Given the description of an element on the screen output the (x, y) to click on. 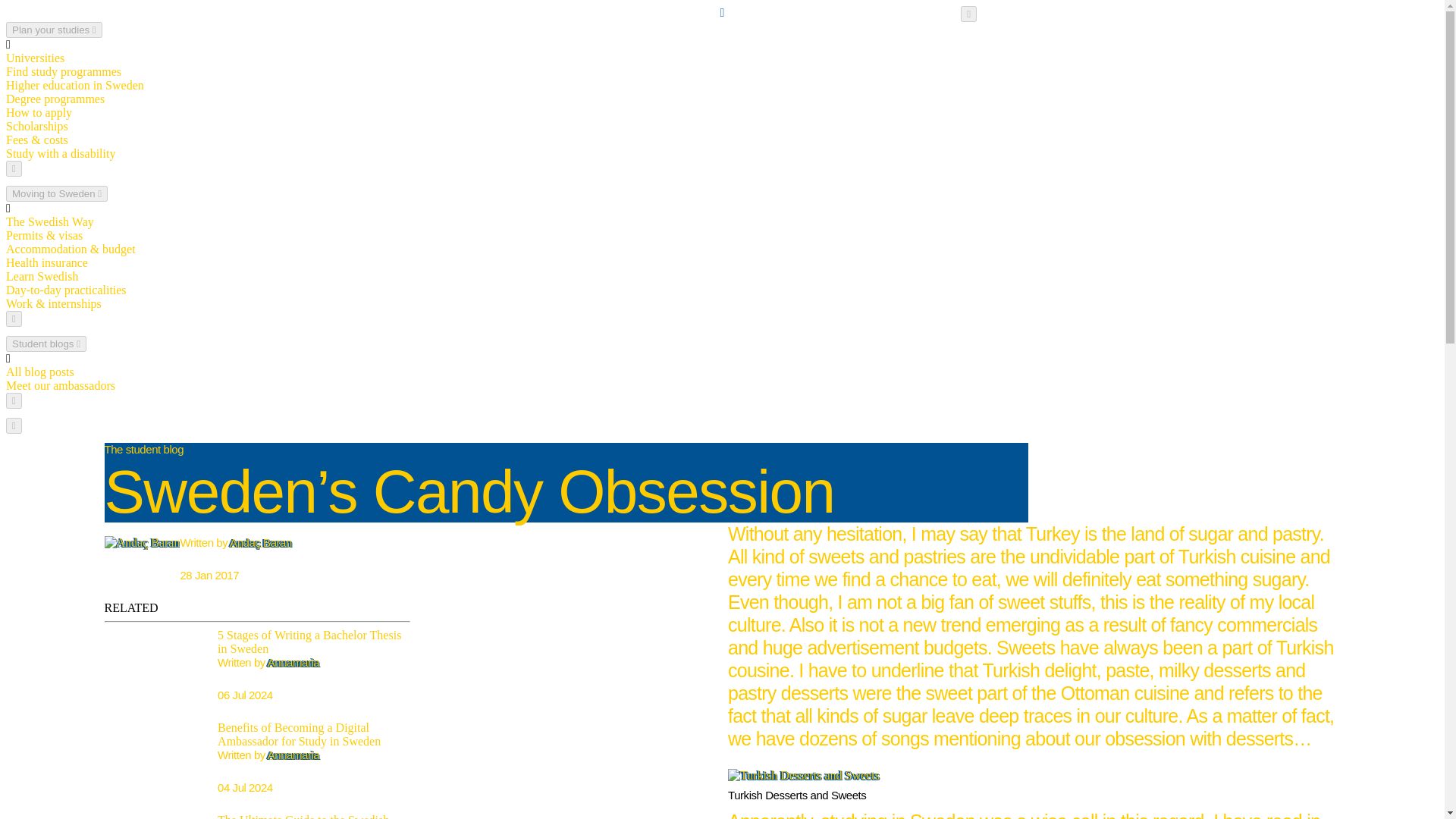
The Ultimate Guide to the Swedish Midsummer! (302, 816)
5 Stages of Writing a Bachelor Thesis in Sweden (308, 641)
Higher education in Sweden (74, 84)
Day-to-day practicalities (65, 289)
Scholarships (36, 125)
Learn Swedish (41, 276)
Annamaria (293, 754)
Universities (34, 57)
Study with a disability (60, 153)
